Given the description of an element on the screen output the (x, y) to click on. 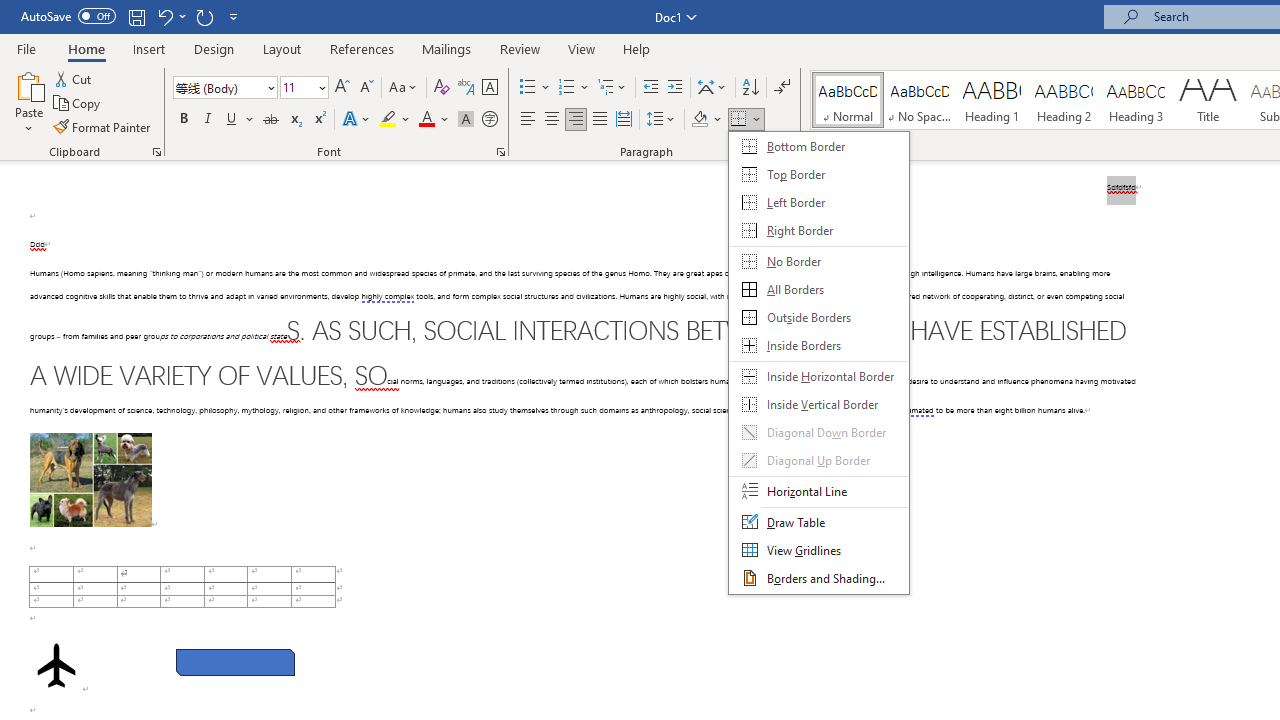
Format Painter (103, 126)
Italic (207, 119)
Align Left (527, 119)
Rectangle: Diagonal Corners Snipped 2 (235, 662)
Borders (746, 119)
System (10, 11)
Save (136, 15)
Review (520, 48)
Bold (183, 119)
Paste (28, 102)
Repeat Paragraph Alignment (204, 15)
Font Size (304, 87)
Mailings (447, 48)
